Given the description of an element on the screen output the (x, y) to click on. 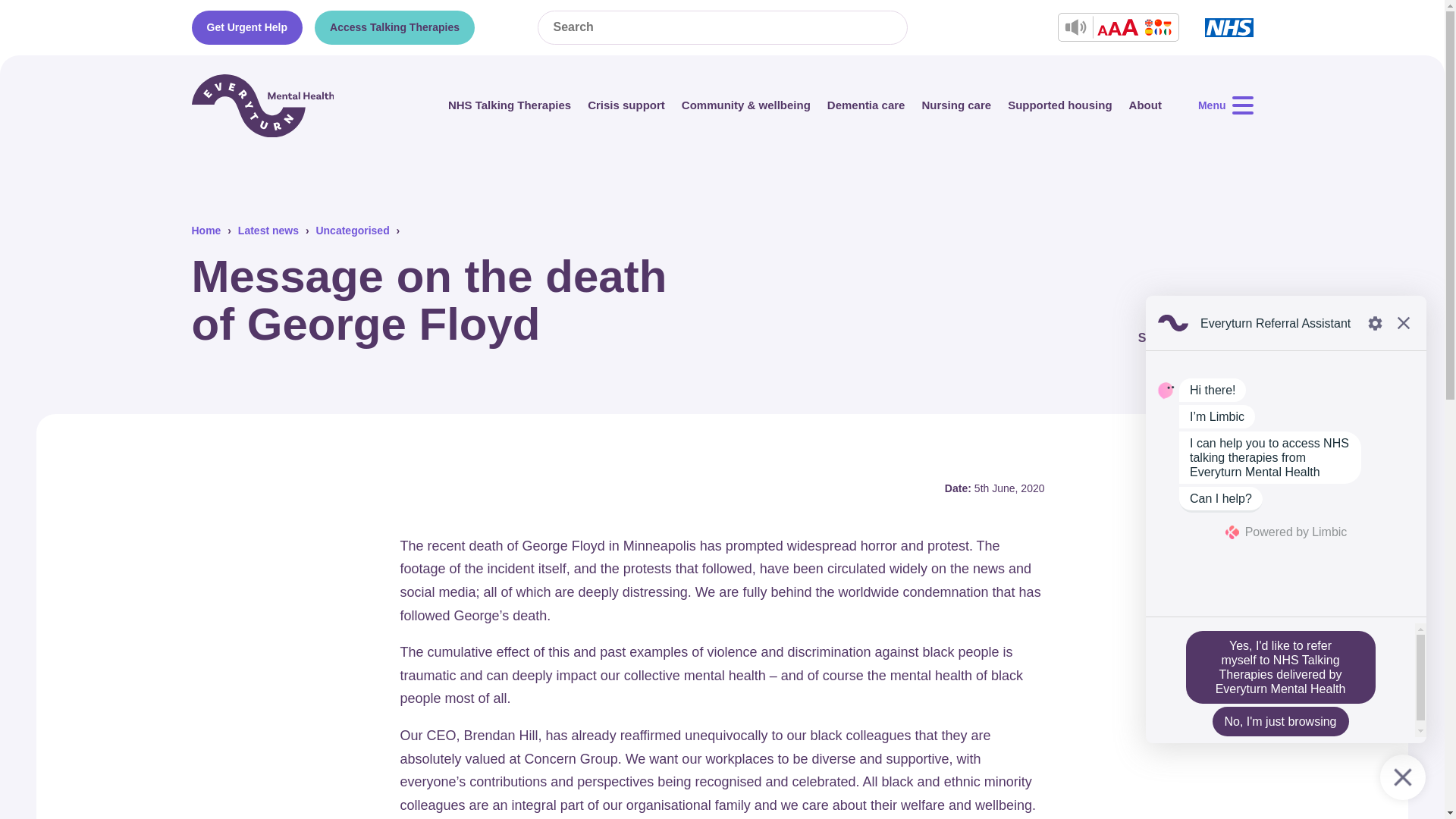
Dementia care (866, 105)
Nursing care (956, 105)
Supported housing (1059, 105)
Dementia care (866, 105)
Crisis support (626, 105)
Crisis support (626, 105)
About (1145, 105)
Get Urgent Help (246, 27)
Toggle ReciteME toolbar (1117, 27)
Get urgent help today (246, 27)
Nursing care (956, 105)
Access Talking Therapies (394, 27)
NHS Talking Therapies (509, 105)
Menu (1225, 105)
